Given the description of an element on the screen output the (x, y) to click on. 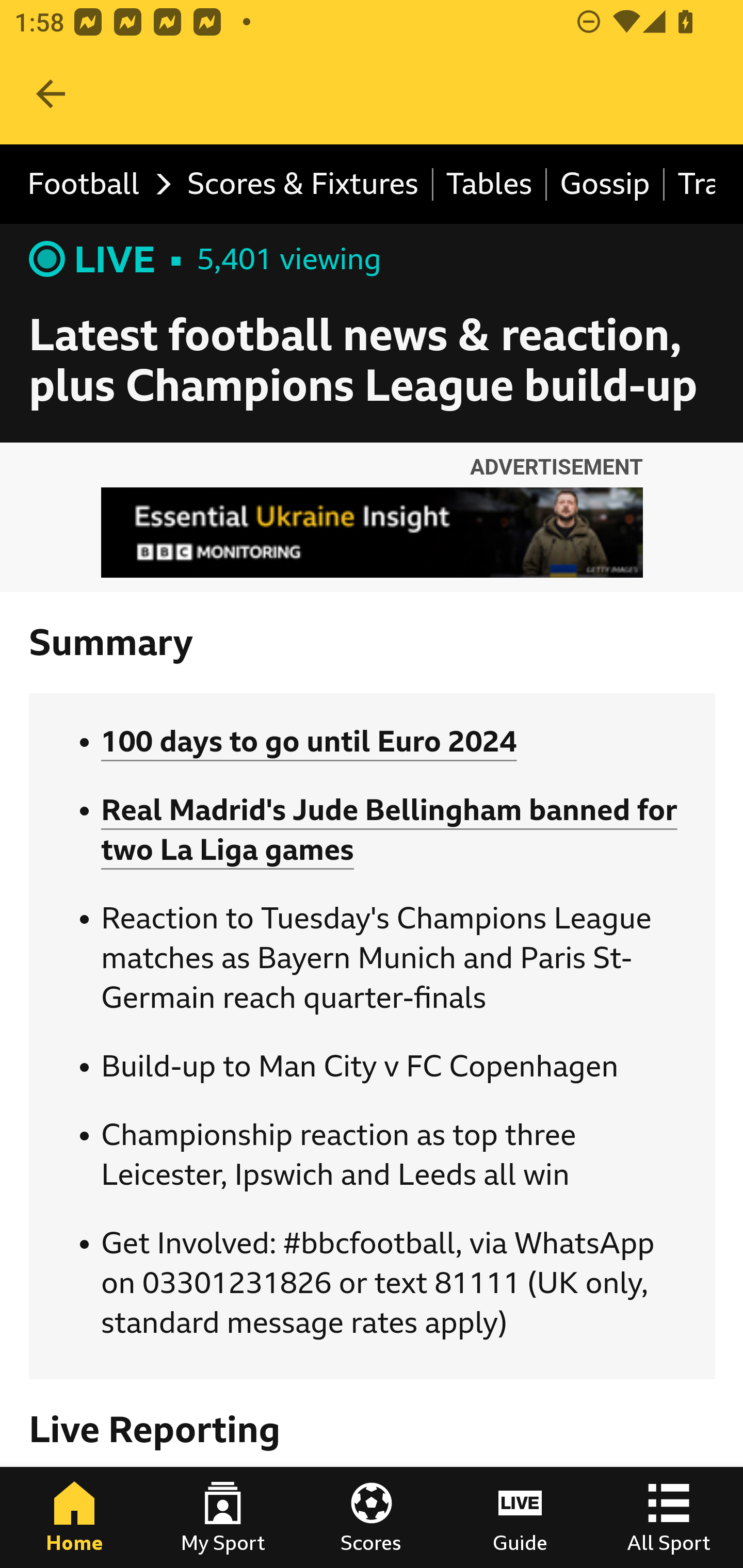
Navigate up (50, 93)
Football (94, 184)
Scores & Fixtures (303, 184)
Tables (490, 184)
Gossip (605, 184)
100 days to go until Euro 2024 (309, 742)
My Sport (222, 1517)
Scores (371, 1517)
Guide (519, 1517)
All Sport (668, 1517)
